Given the description of an element on the screen output the (x, y) to click on. 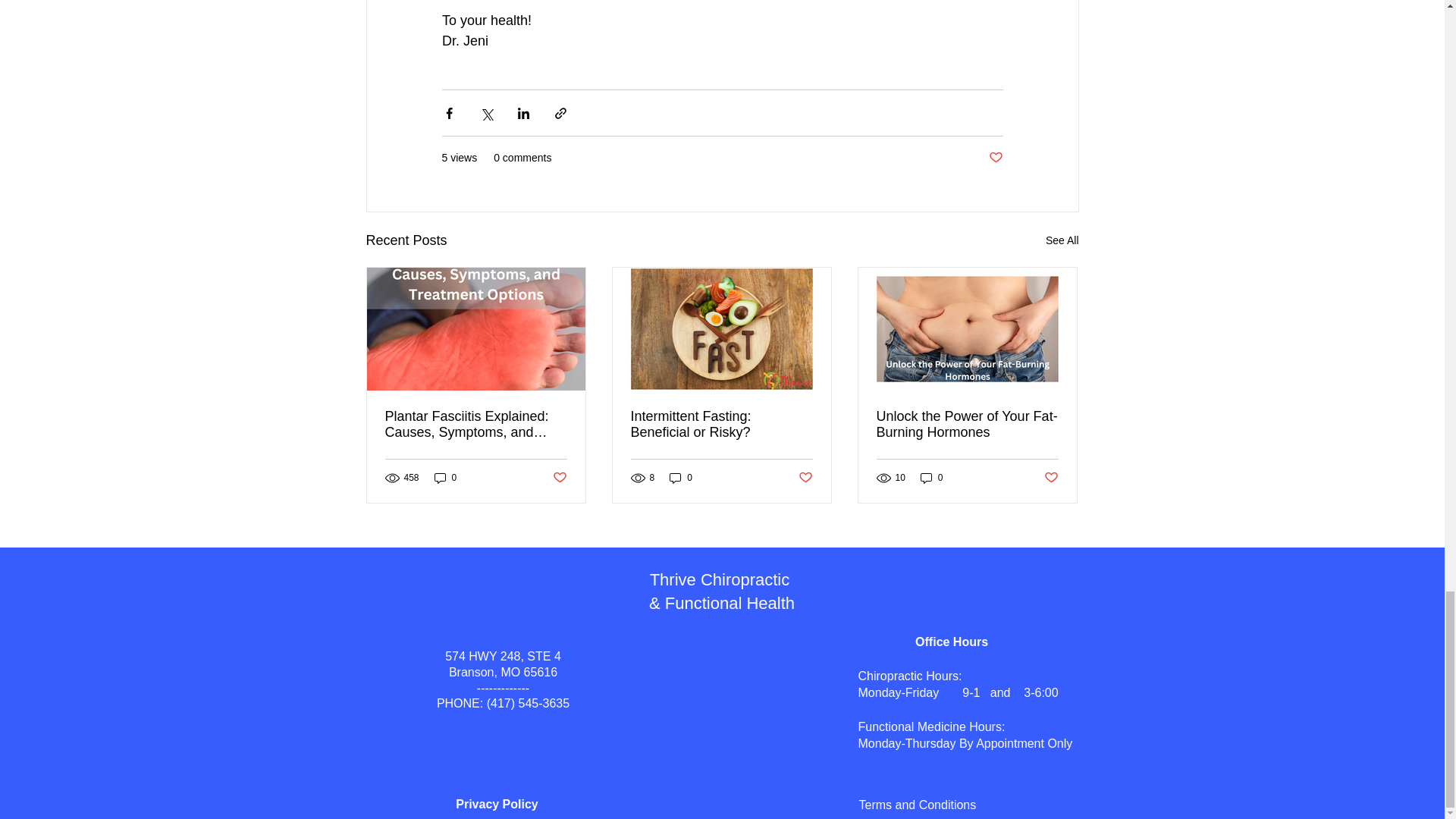
Post not marked as liked (1050, 478)
Intermittent Fasting: Beneficial or Risky? (721, 424)
Post not marked as liked (558, 478)
0 (445, 477)
Privacy Policy (496, 803)
Unlock the Power of Your Fat-Burning Hormones (967, 424)
Post not marked as liked (804, 478)
Post not marked as liked (995, 157)
0 (931, 477)
